Given the description of an element on the screen output the (x, y) to click on. 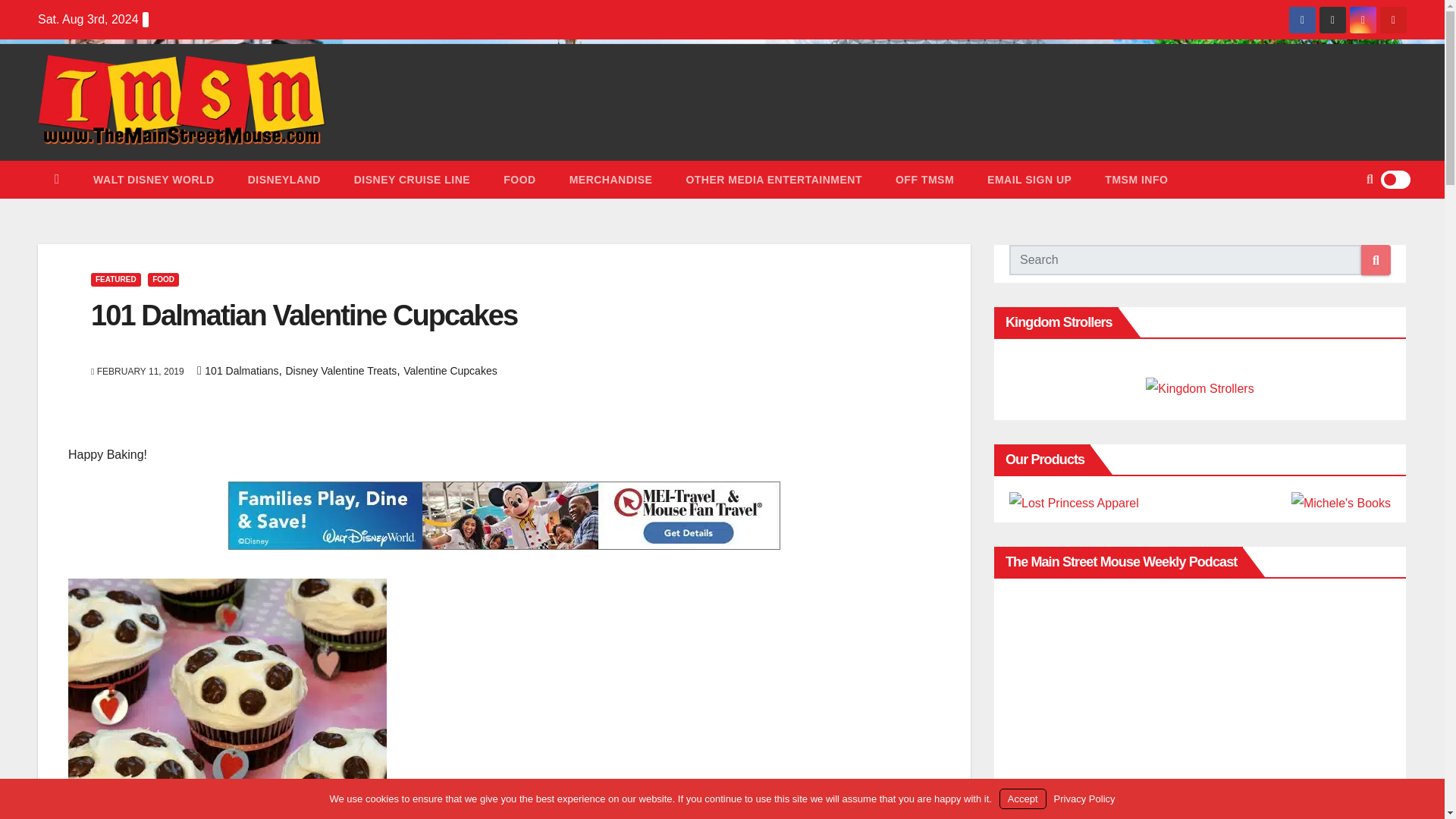
EMAIL SIGN UP (1029, 179)
Email Sign Up (1029, 179)
Merchandise (611, 179)
TMSM INFO (1136, 179)
Disneyland (284, 179)
FOOD (163, 279)
Off TMSM (925, 179)
FEATURED (115, 279)
MERCHANDISE (611, 179)
Disney Cruise Line (411, 179)
Other Media Entertainment (773, 179)
Disney Valentine Treats (340, 370)
DISNEY CRUISE LINE (411, 179)
TMSM Info (1136, 179)
Valentine Cupcakes (449, 370)
